Given the description of an element on the screen output the (x, y) to click on. 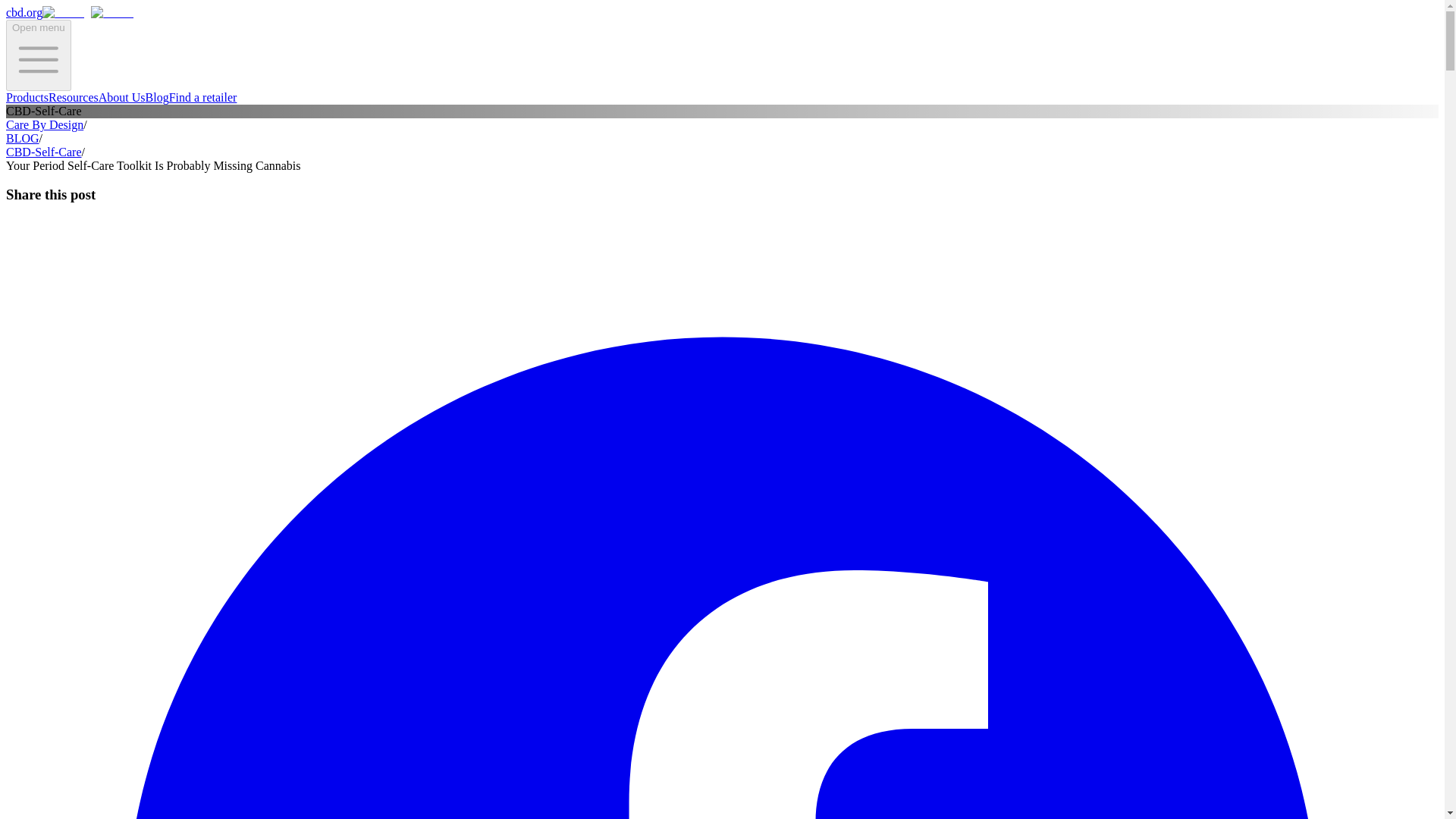
Products (26, 97)
cbd.org (72, 11)
Find a retailer (202, 97)
Blog (156, 97)
About Us (122, 97)
CBD-Self-Care (43, 151)
Open menu (38, 54)
Resources (73, 97)
Care By Design (43, 124)
BLOG (22, 137)
